Given the description of an element on the screen output the (x, y) to click on. 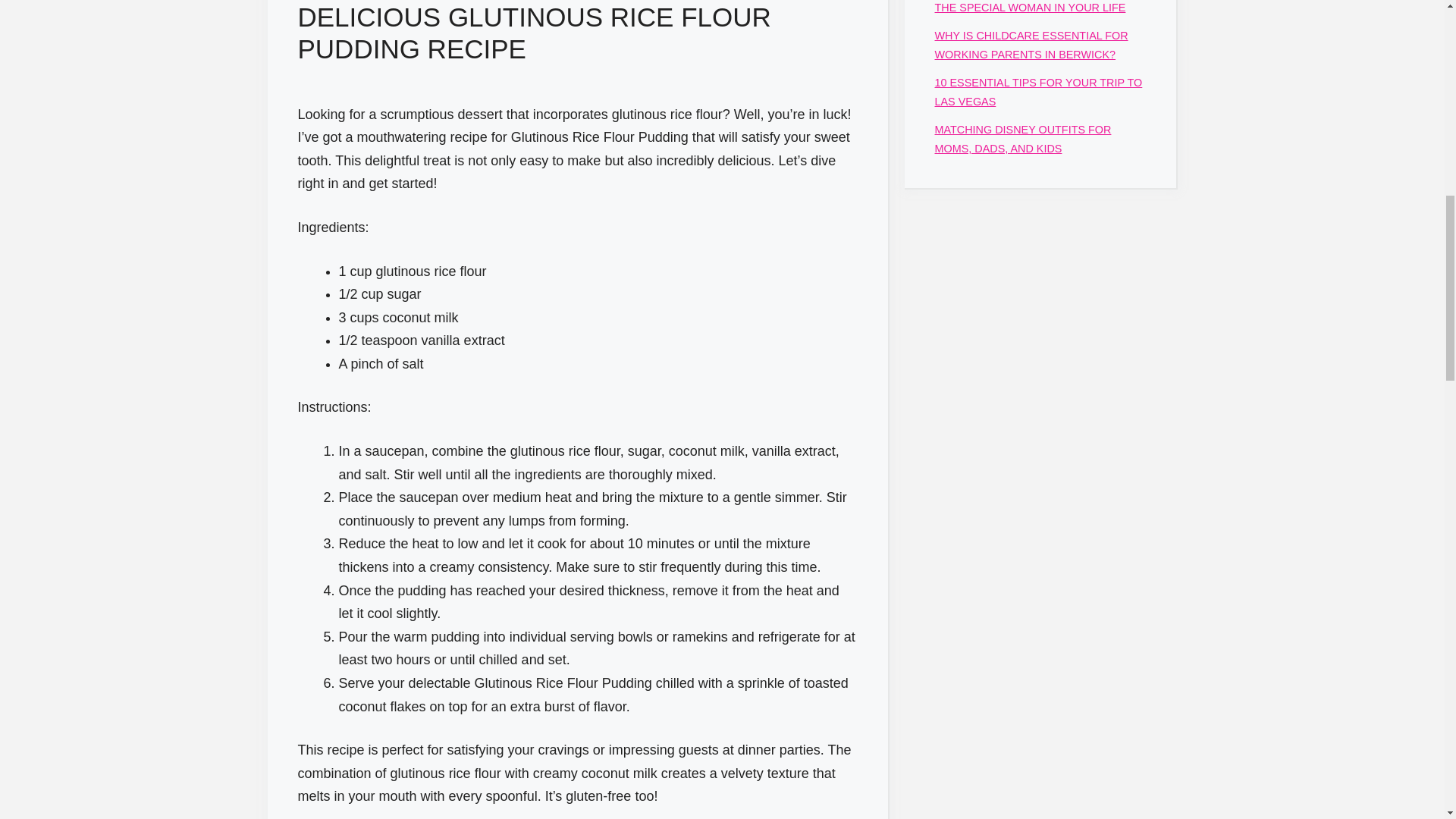
10 ESSENTIAL TIPS FOR YOUR TRIP TO LAS VEGAS (1037, 91)
MATCHING DISNEY OUTFITS FOR MOMS, DADS, AND KIDS (1022, 138)
Scroll back to top (1406, 720)
WHY IS CHILDCARE ESSENTIAL FOR WORKING PARENTS IN BERWICK? (1030, 44)
